Given the description of an element on the screen output the (x, y) to click on. 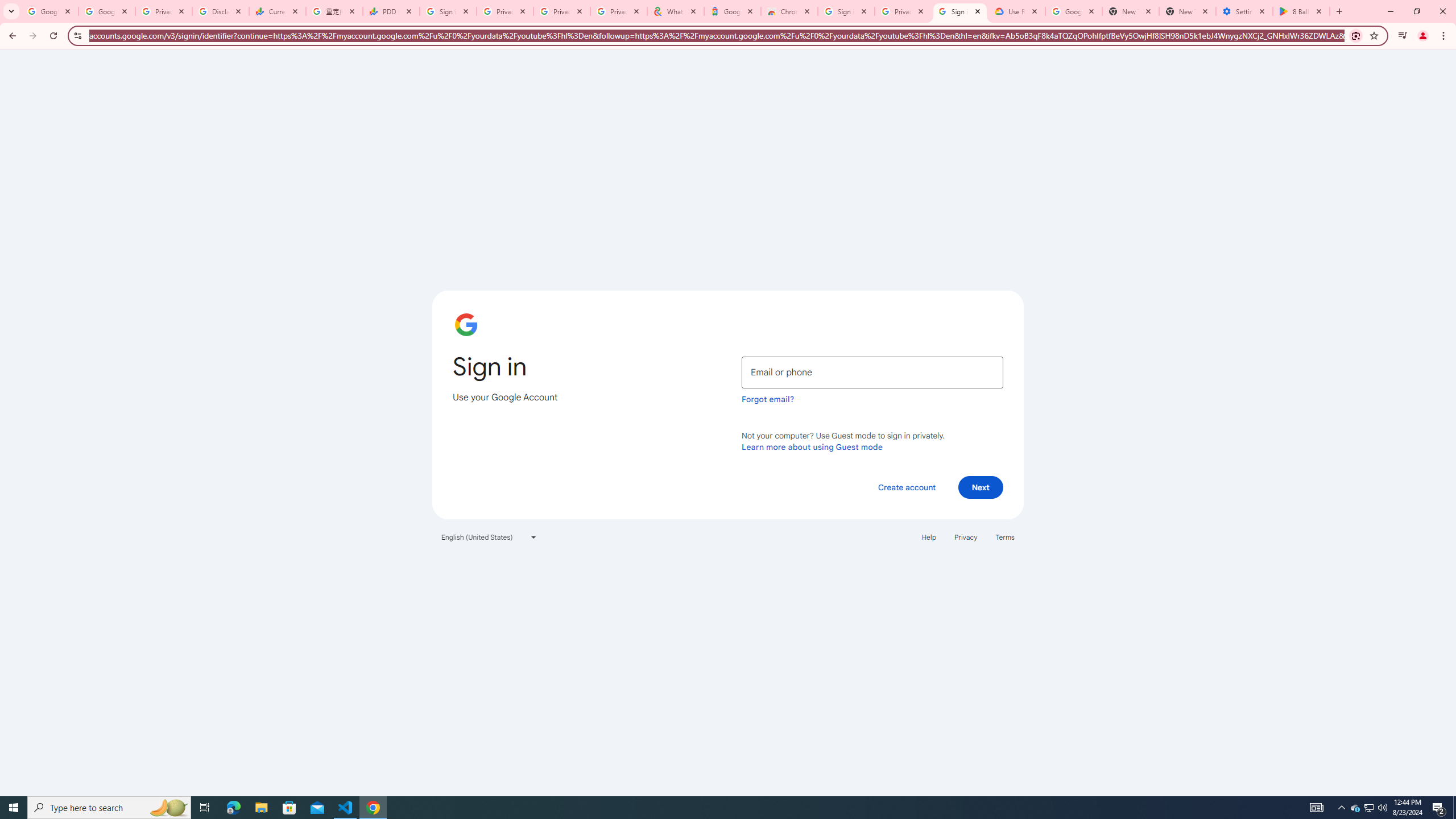
Privacy (965, 536)
Sign in - Google Accounts (845, 11)
Next (980, 486)
Currencies - Google Finance (277, 11)
New Tab (1187, 11)
Create account (905, 486)
8 Ball Pool - Apps on Google Play (1301, 11)
